Given the description of an element on the screen output the (x, y) to click on. 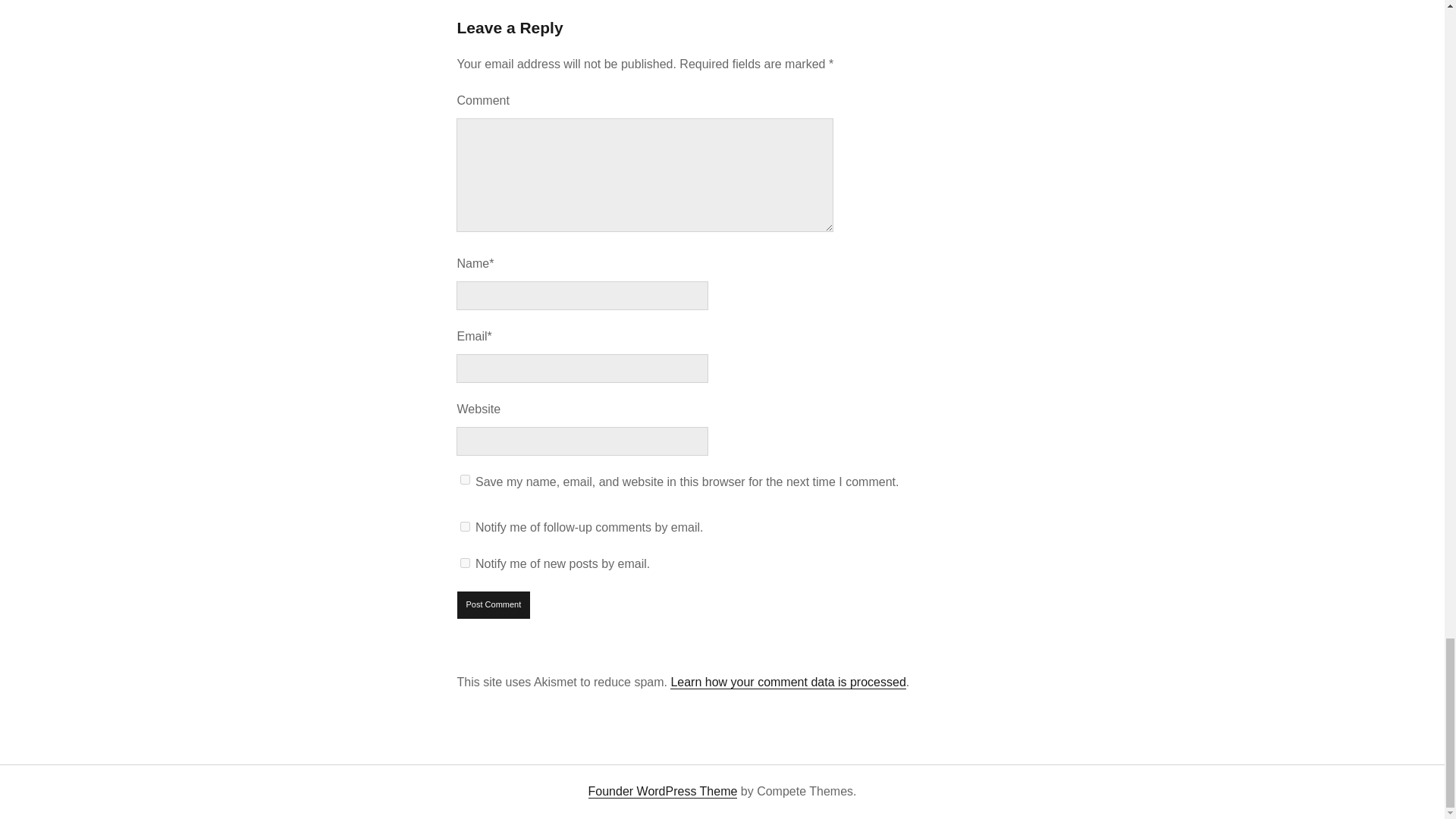
Post Comment (494, 605)
subscribe (465, 562)
yes (465, 479)
subscribe (465, 526)
